Given the description of an element on the screen output the (x, y) to click on. 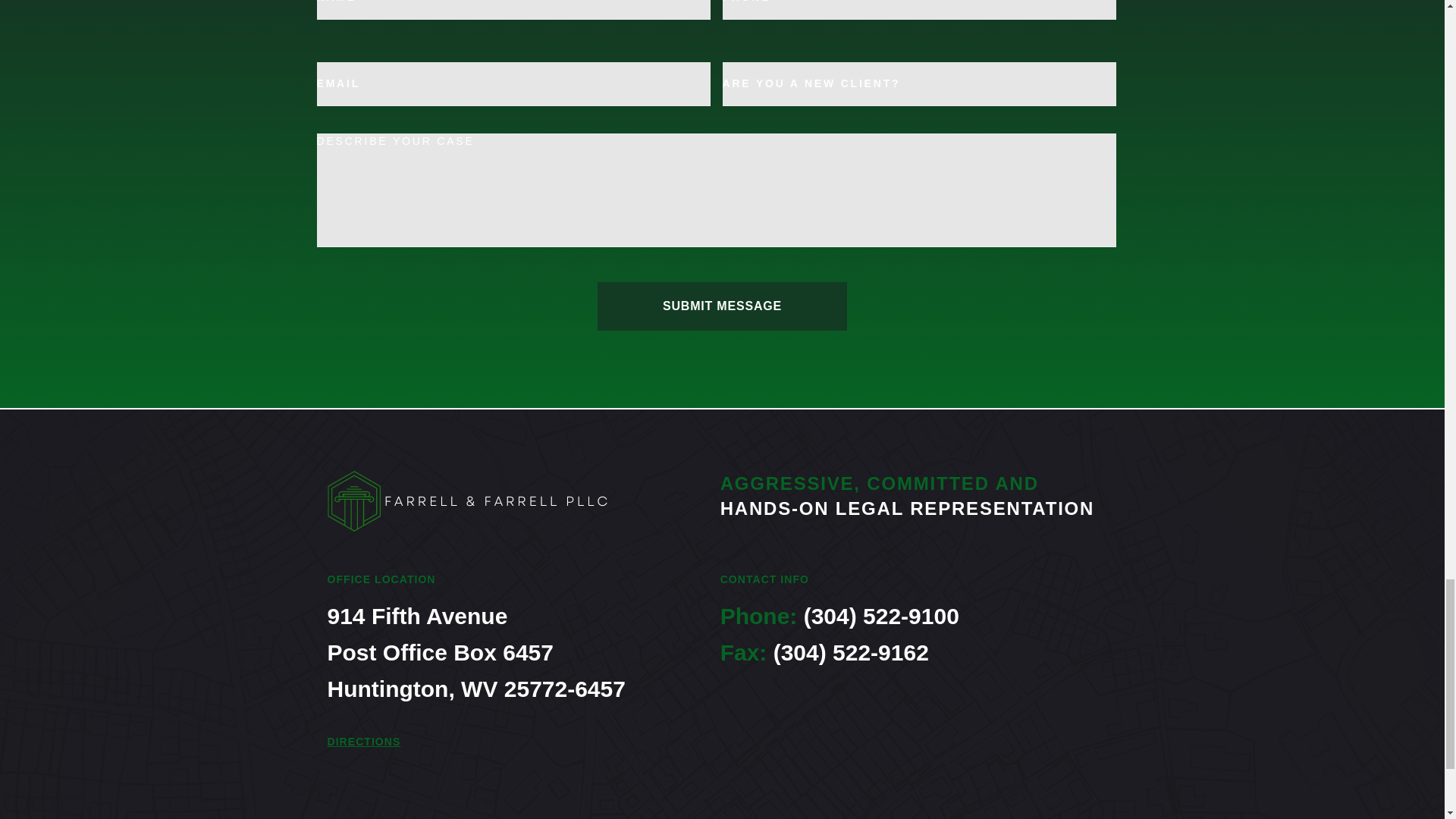
SUBMIT MESSAGE (721, 305)
